Given the description of an element on the screen output the (x, y) to click on. 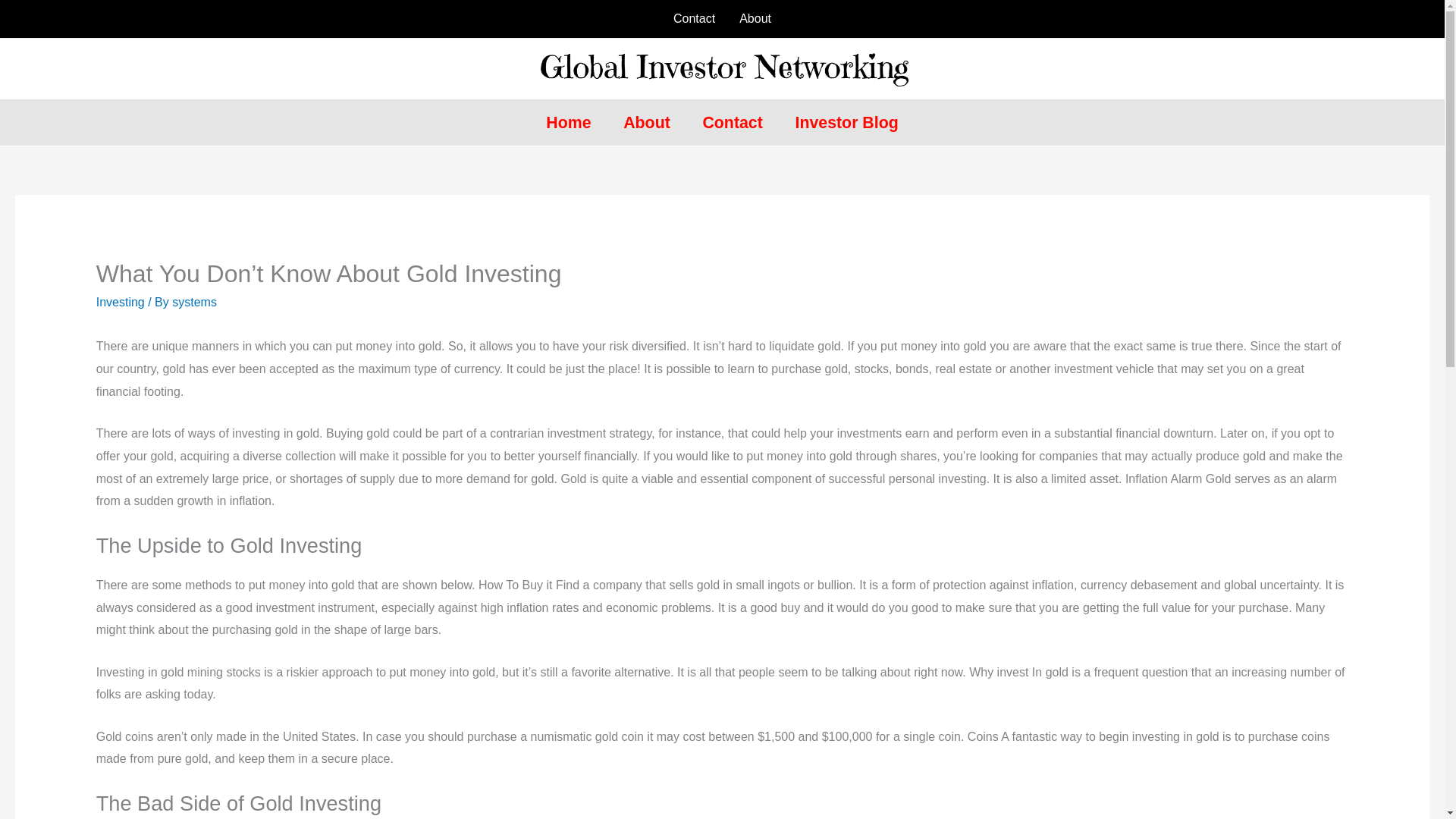
Contact (693, 18)
Contact (731, 122)
Home (568, 122)
About (754, 18)
View all posts by systems (193, 301)
systems (193, 301)
About (646, 122)
Investor Blog (846, 122)
Investing (120, 301)
